Given the description of an element on the screen output the (x, y) to click on. 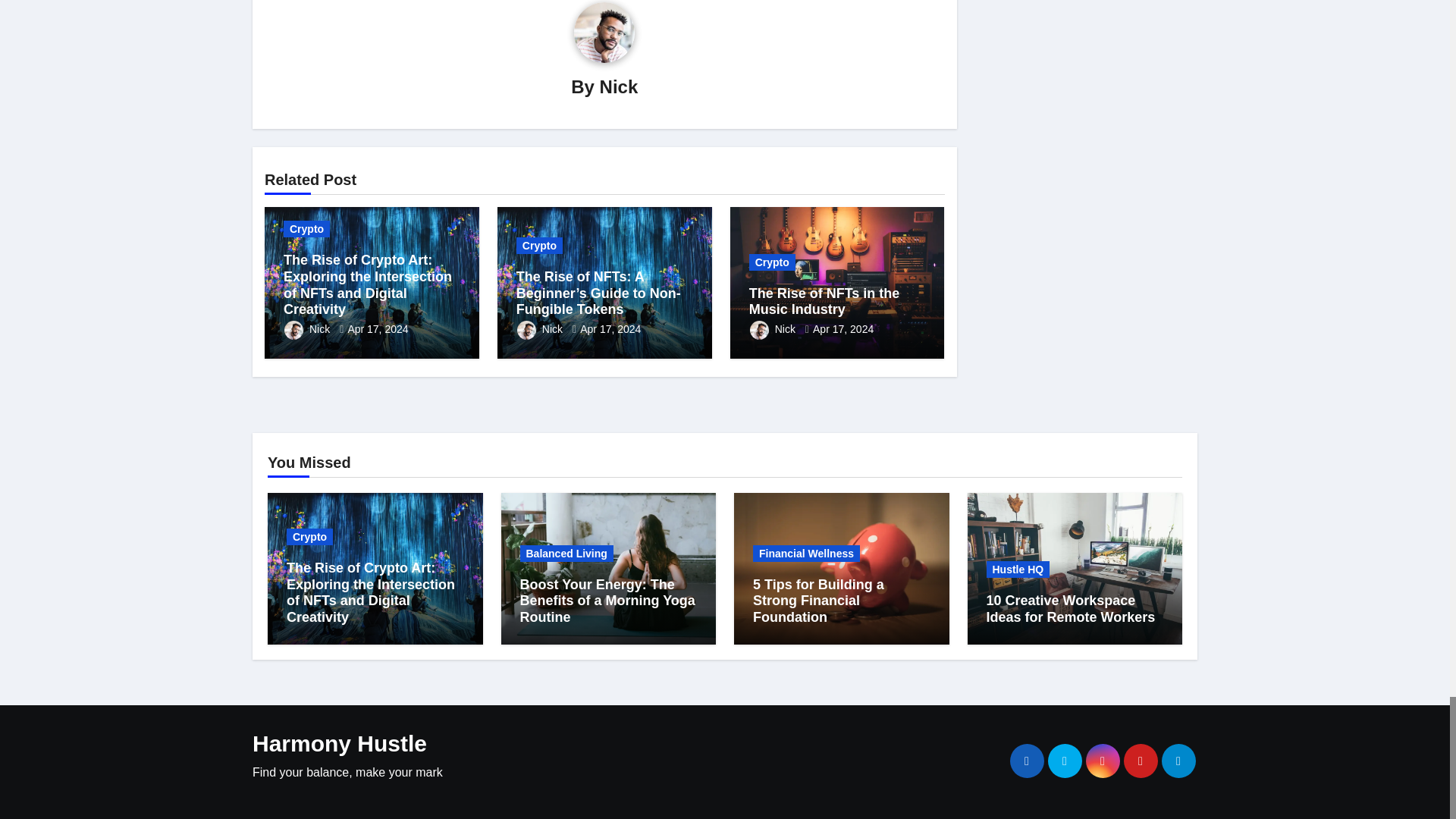
Nick (619, 86)
Permalink to: The Rise of NFTs in the Music Industry (824, 301)
